Given the description of an element on the screen output the (x, y) to click on. 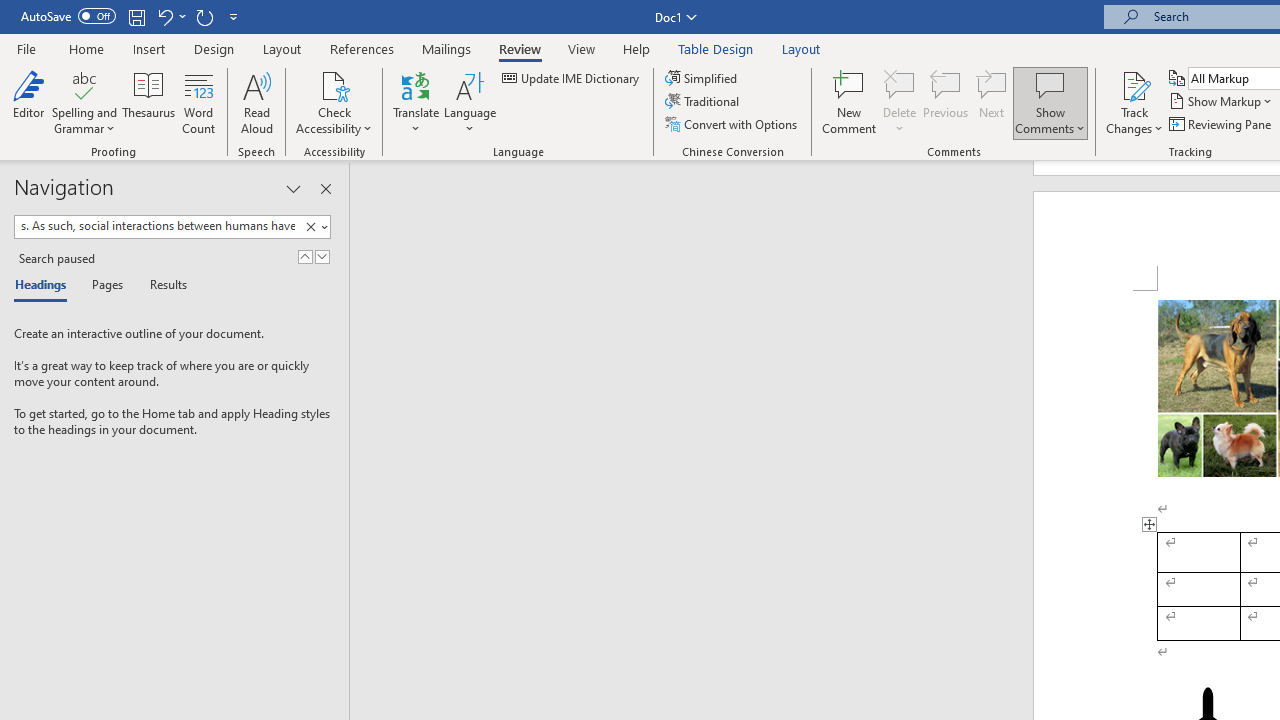
Traditional (703, 101)
Clear (310, 227)
Reviewing Pane (1221, 124)
Repeat Style (204, 15)
Track Changes (1134, 102)
Show Comments (1050, 84)
Table Design (715, 48)
Delete (900, 102)
Editor (28, 102)
Show Comments (1050, 102)
Simplified (702, 78)
Undo Style (164, 15)
Mailings (447, 48)
Language (470, 102)
Next Result (322, 256)
